Given the description of an element on the screen output the (x, y) to click on. 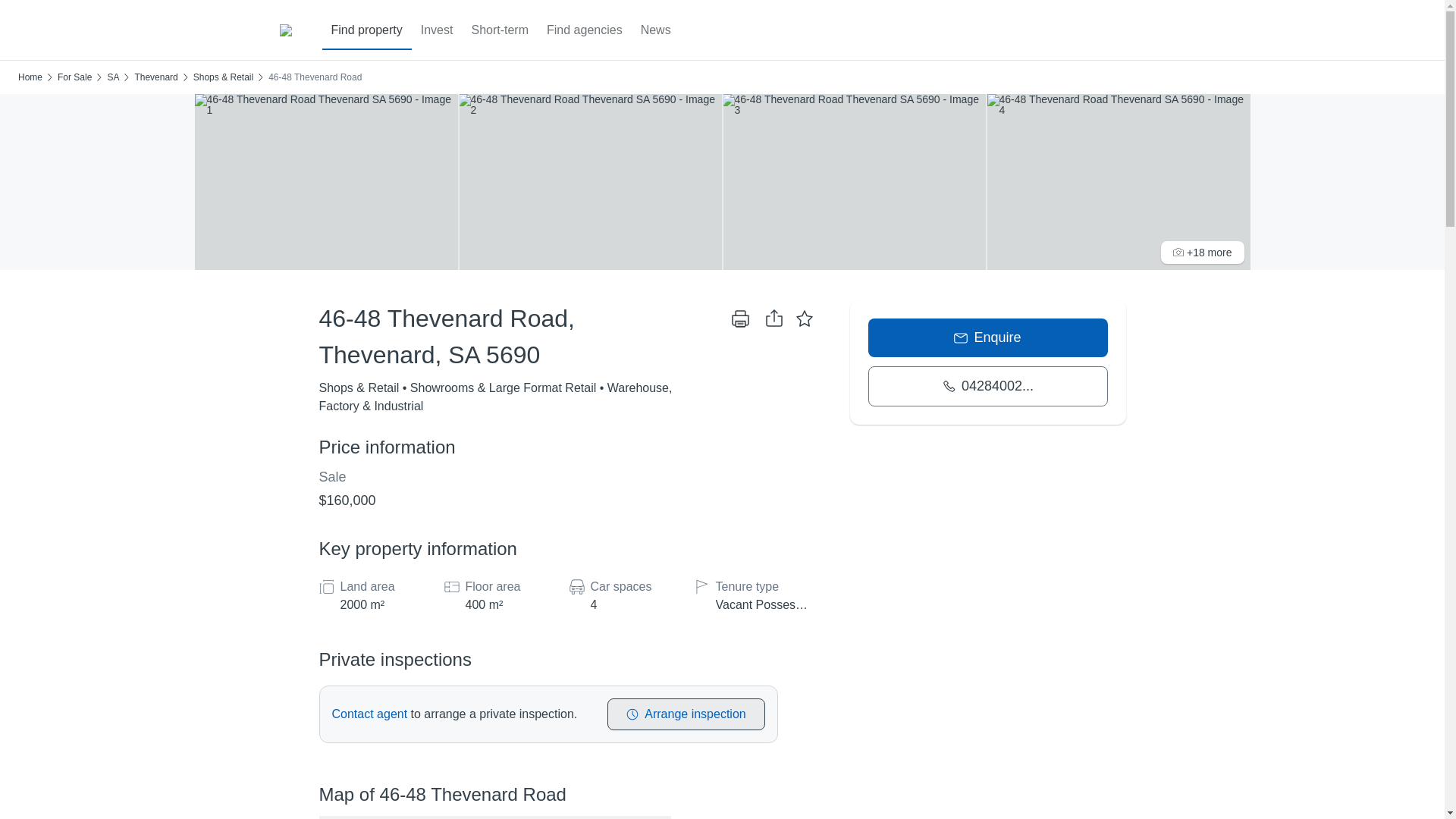
Arrange inspection (685, 714)
Home (29, 76)
Thevenard (155, 76)
Invest (437, 30)
For Sale (74, 76)
SA (112, 76)
Find property (365, 30)
4 (628, 605)
46-48 Thevenard Road (314, 76)
News (655, 30)
